Given the description of an element on the screen output the (x, y) to click on. 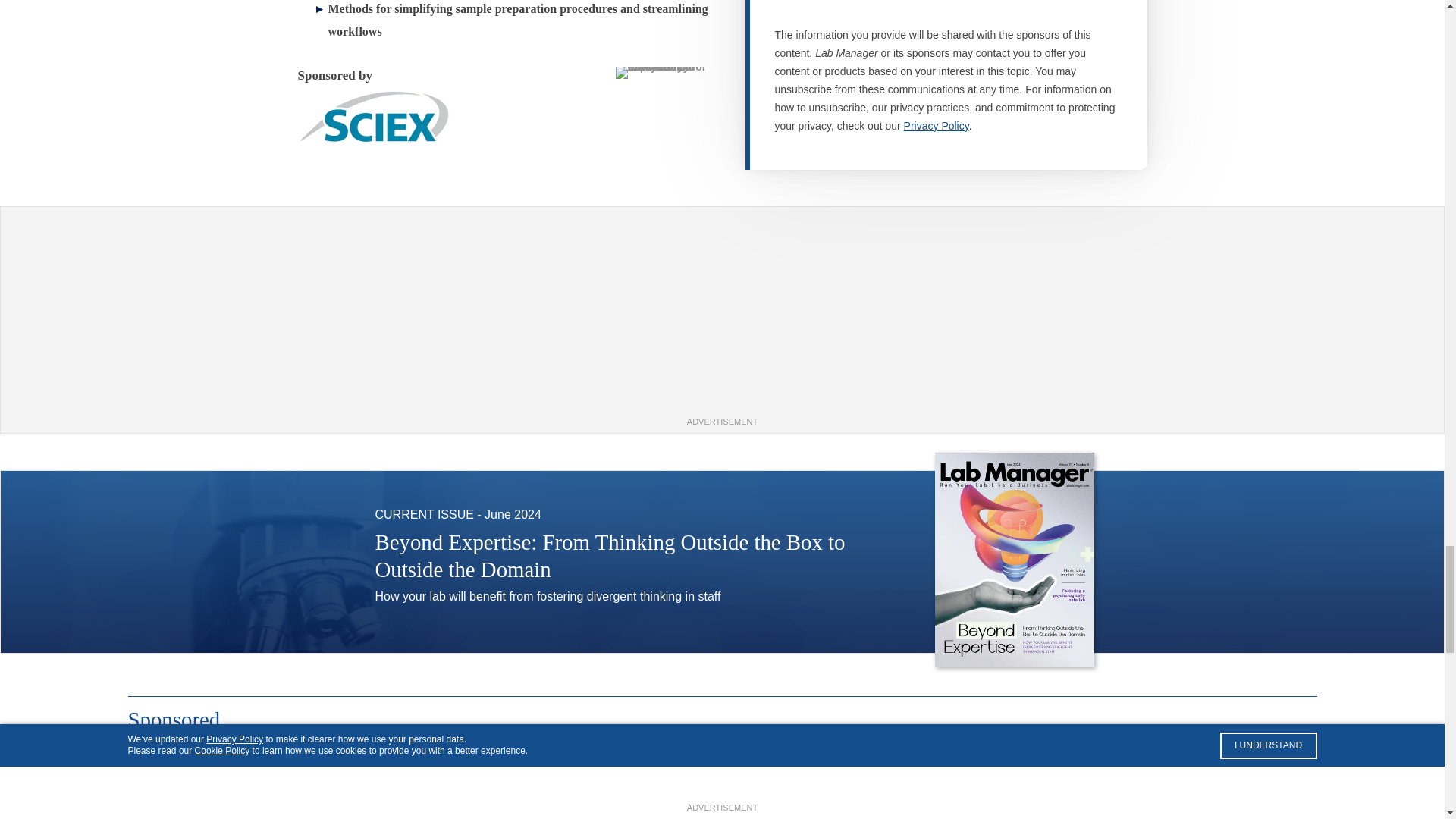
Download Now (846, 675)
